Given the description of an element on the screen output the (x, y) to click on. 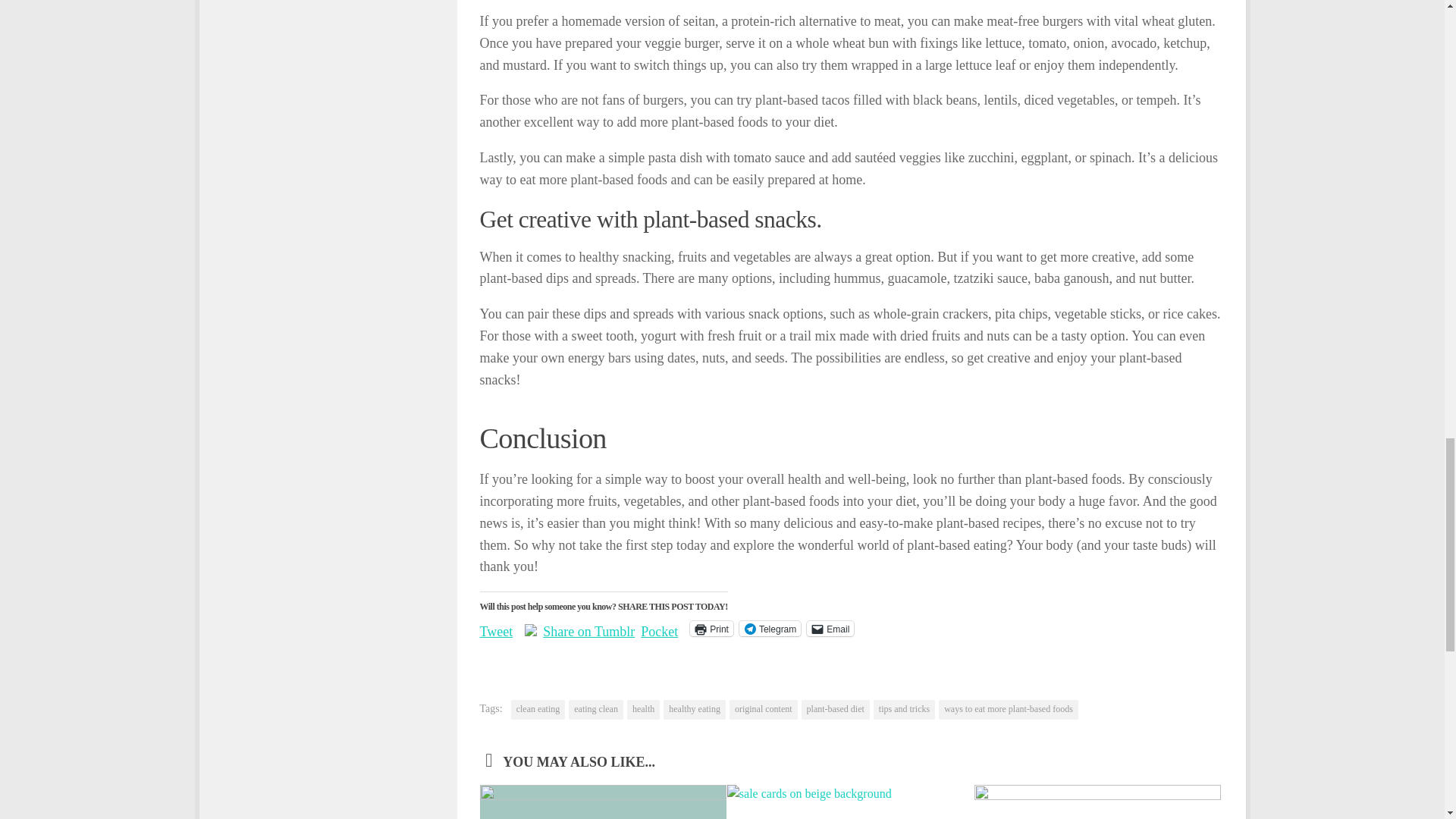
Click to print (711, 628)
Share on Tumblr (588, 627)
Click to share on Telegram (769, 628)
Click to email a link to a friend (829, 628)
